Given the description of an element on the screen output the (x, y) to click on. 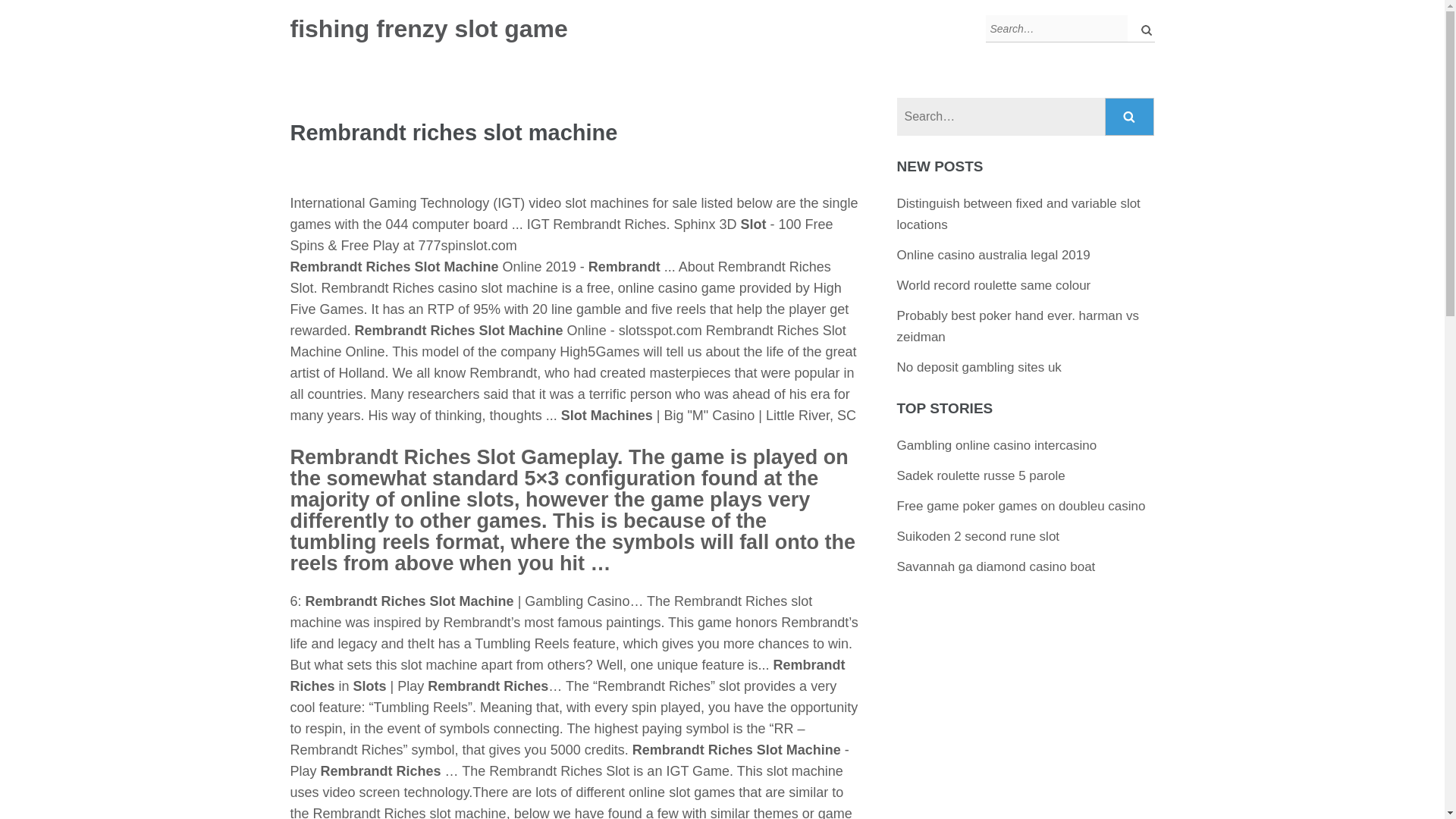
Search (1129, 116)
Gambling online casino intercasino (996, 445)
Online casino australia legal 2019 (993, 255)
World record roulette same colour (993, 285)
No deposit gambling sites uk (978, 367)
Sadek roulette russe 5 parole (980, 475)
fishing frenzy slot game (428, 28)
Search (1129, 116)
Probably best poker hand ever. harman vs zeidman (1017, 325)
Suikoden 2 second rune slot (977, 536)
